Given the description of an element on the screen output the (x, y) to click on. 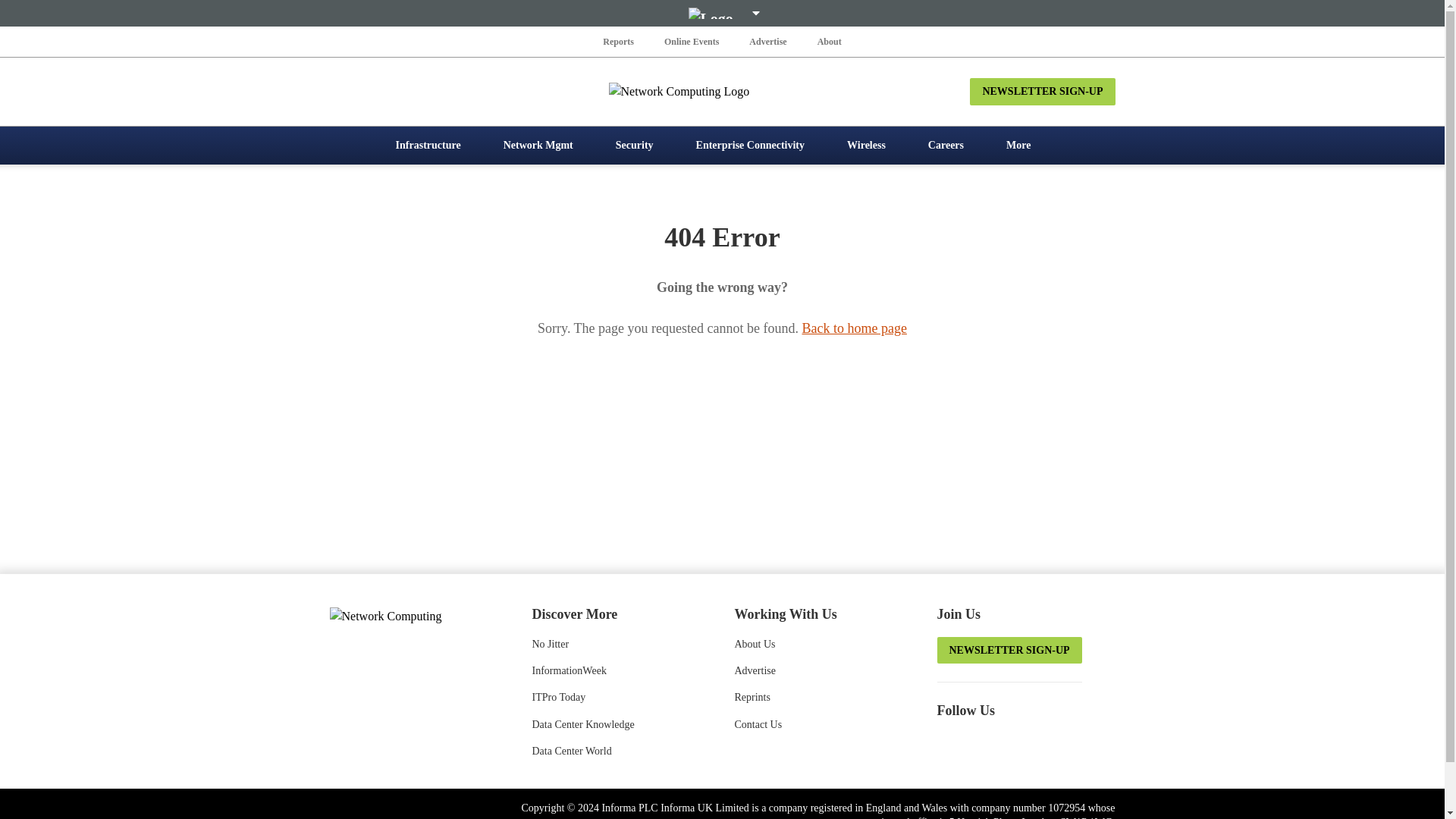
Reports (618, 41)
About (828, 41)
Network Computing Logo (721, 91)
Advertise (767, 41)
NEWSLETTER SIGN-UP (1042, 90)
Online Events (691, 41)
Network Computing (410, 614)
